Given the description of an element on the screen output the (x, y) to click on. 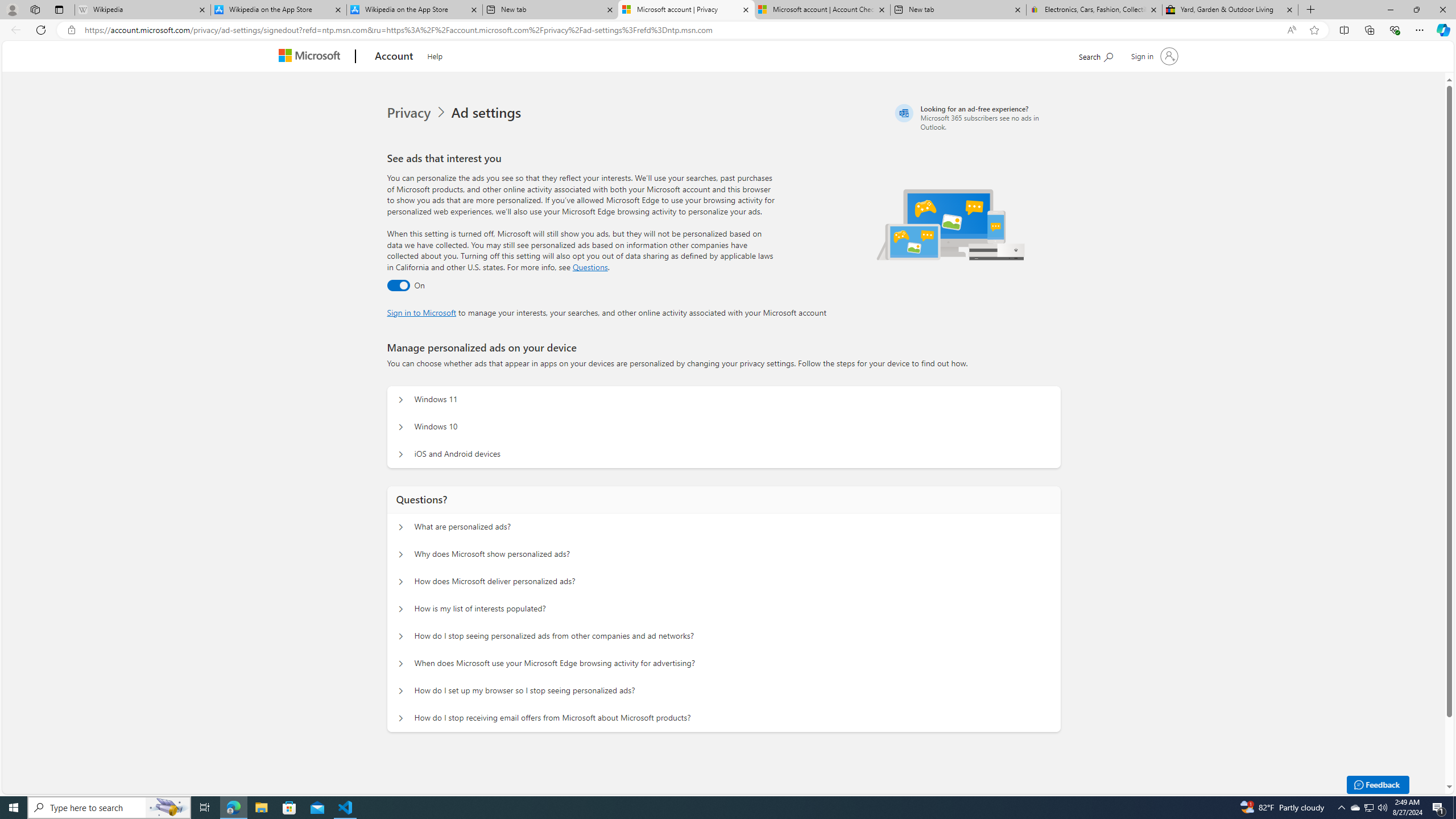
Questions? What are personalized ads? (401, 526)
Account (394, 56)
Questions? How is my list of interests populated? (401, 608)
Ad settings (488, 112)
Manage personalized ads on your device Windows 11 (401, 400)
Ad settings toggle (398, 285)
